Given the description of an element on the screen output the (x, y) to click on. 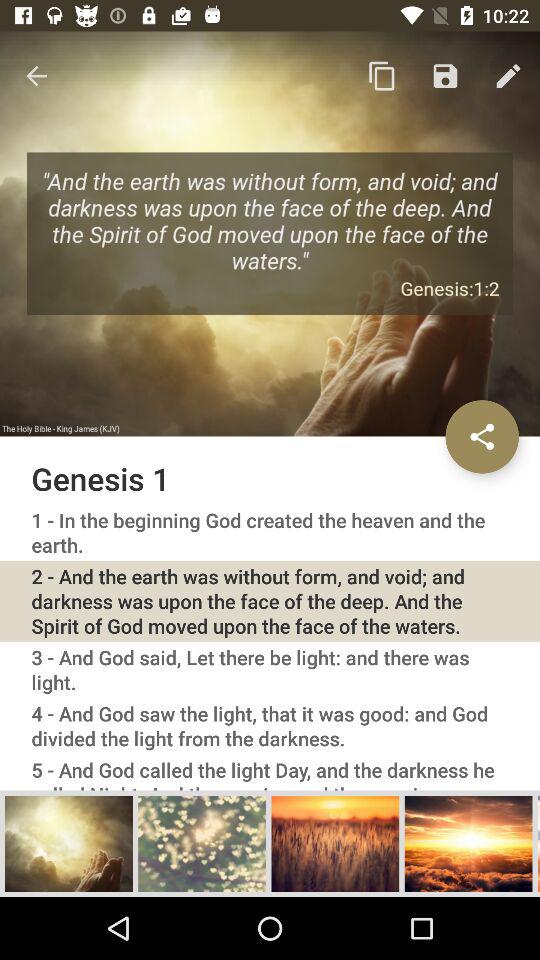
select item at the bottom left corner (69, 843)
